Given the description of an element on the screen output the (x, y) to click on. 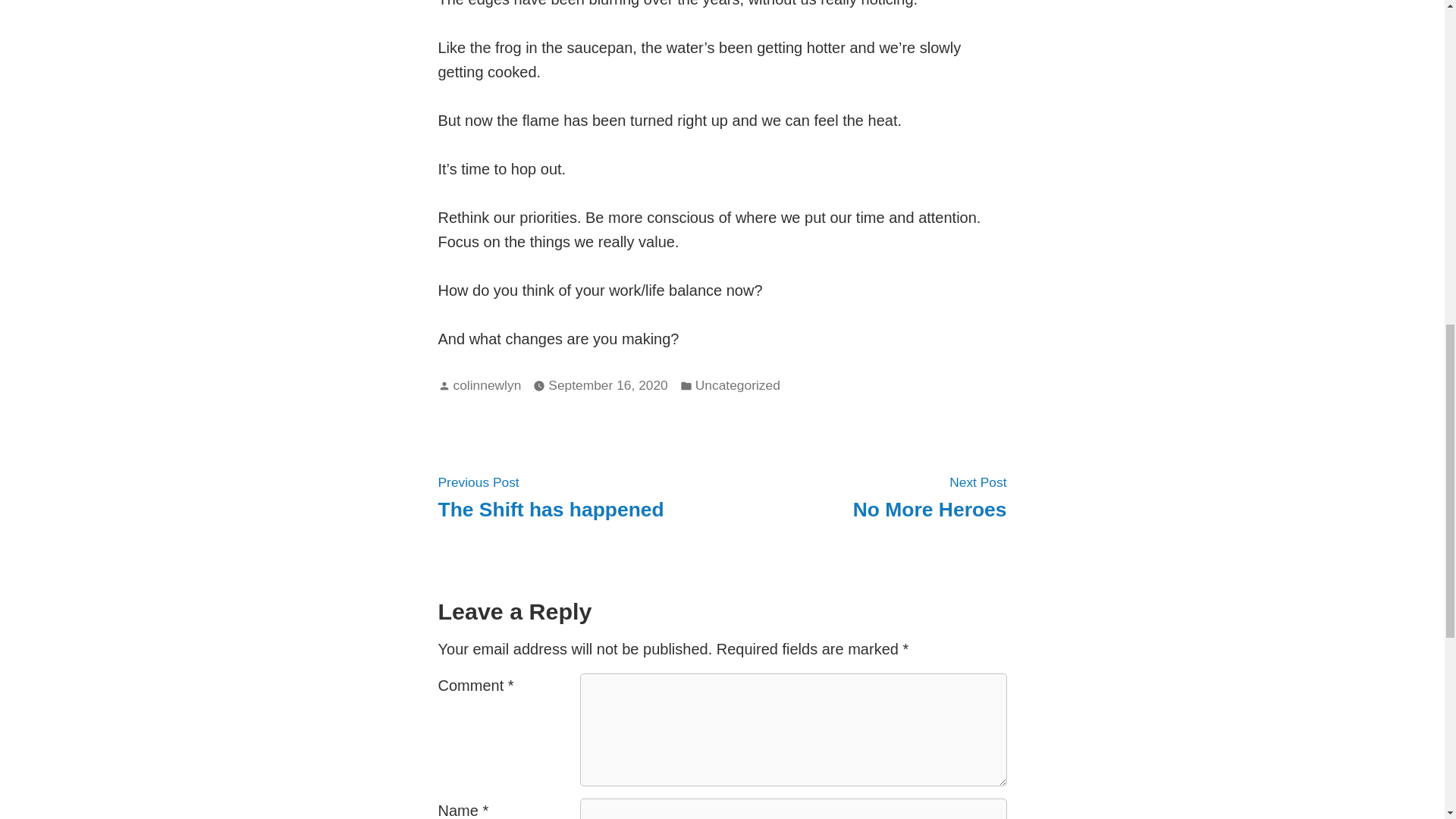
Uncategorized (550, 496)
September 16, 2020 (737, 385)
colinnewlyn (607, 385)
